Given the description of an element on the screen output the (x, y) to click on. 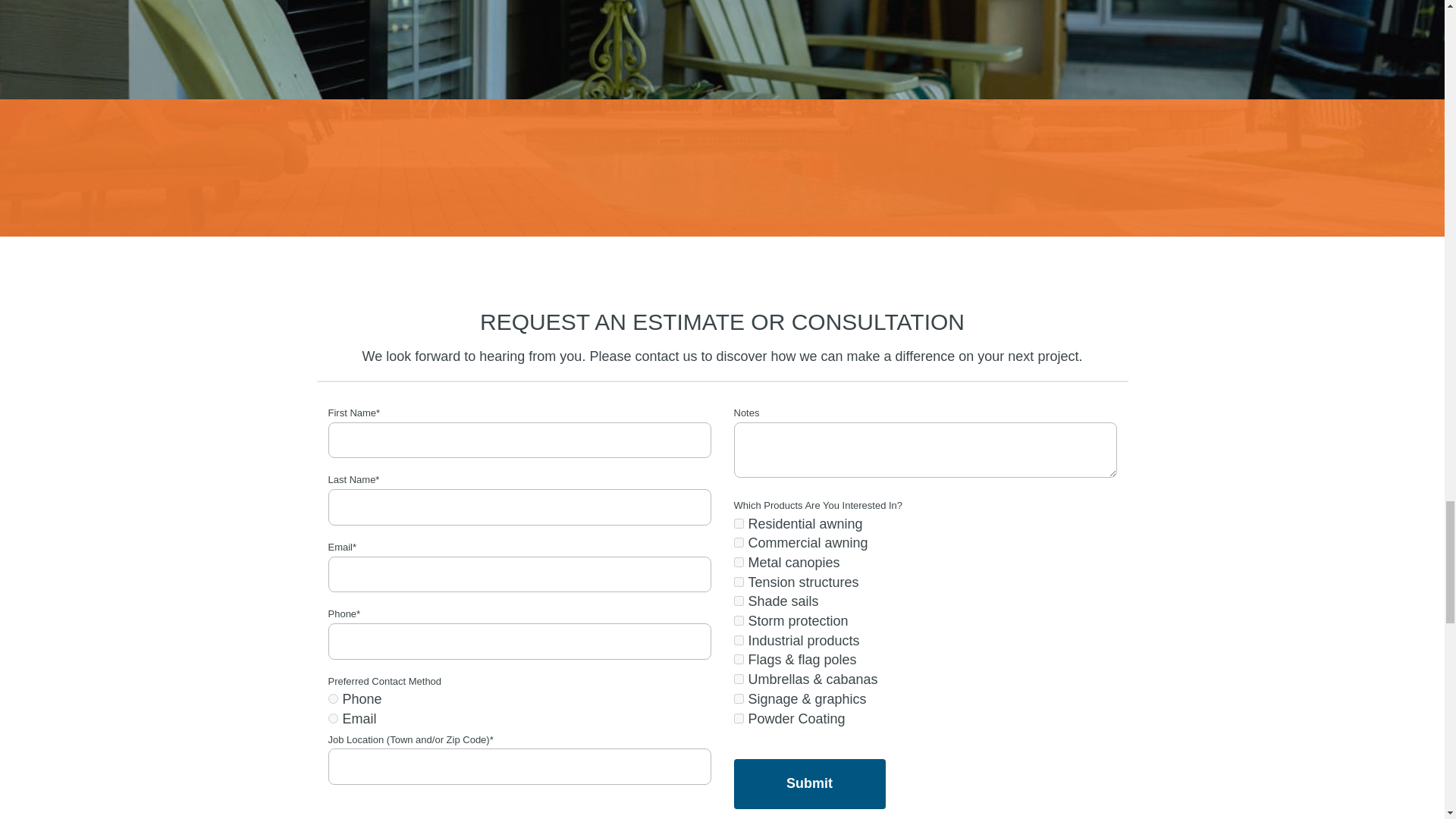
Tension structures (738, 582)
Phone (332, 698)
Commercial awning (738, 542)
Storm protection (738, 620)
Submit (809, 784)
Shade sails (738, 601)
Powder Coating (738, 718)
Metal canopies (738, 562)
Email (332, 718)
Industrial products (738, 640)
Residential awning (738, 523)
